Given the description of an element on the screen output the (x, y) to click on. 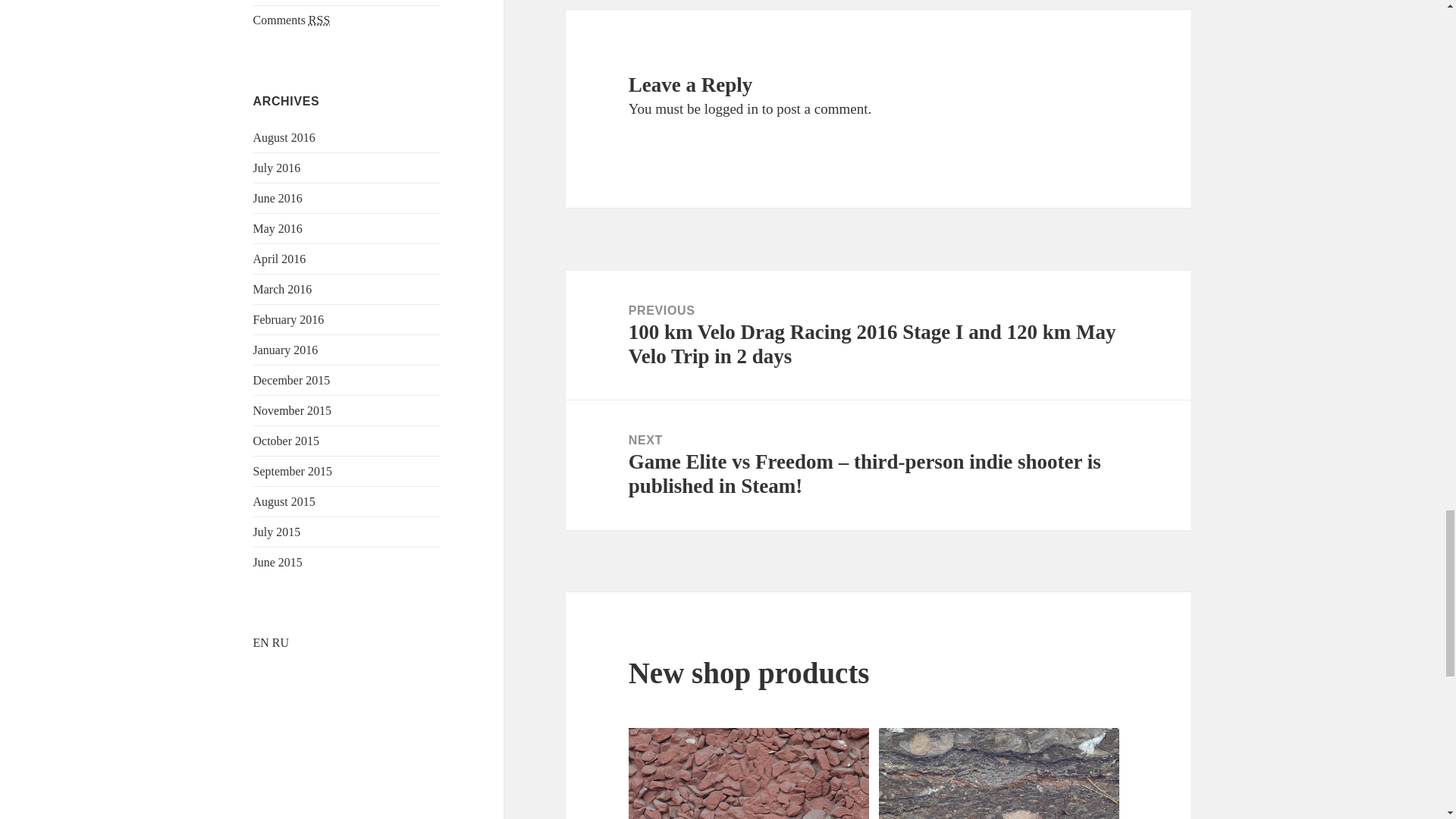
logged in (731, 108)
